Given the description of an element on the screen output the (x, y) to click on. 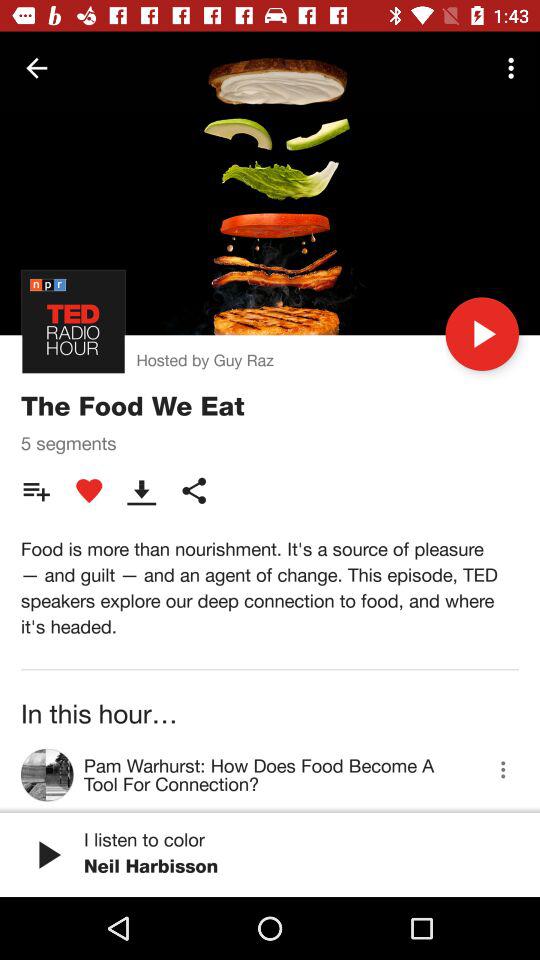
turn off icon on the right (482, 333)
